Given the description of an element on the screen output the (x, y) to click on. 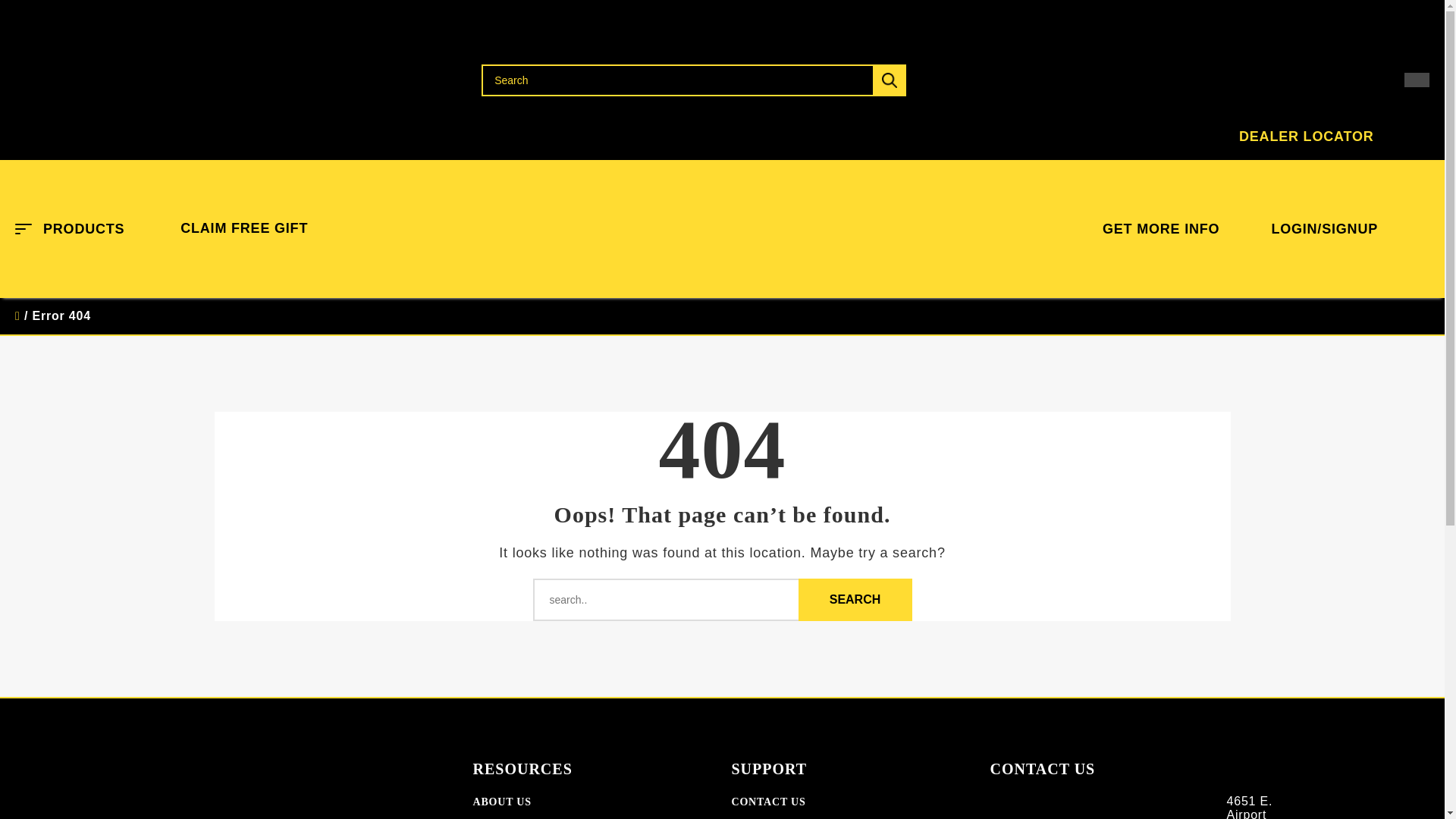
Search (693, 79)
Search (854, 599)
DEALER LOCATOR (1224, 79)
Submit (888, 79)
